Given the description of an element on the screen output the (x, y) to click on. 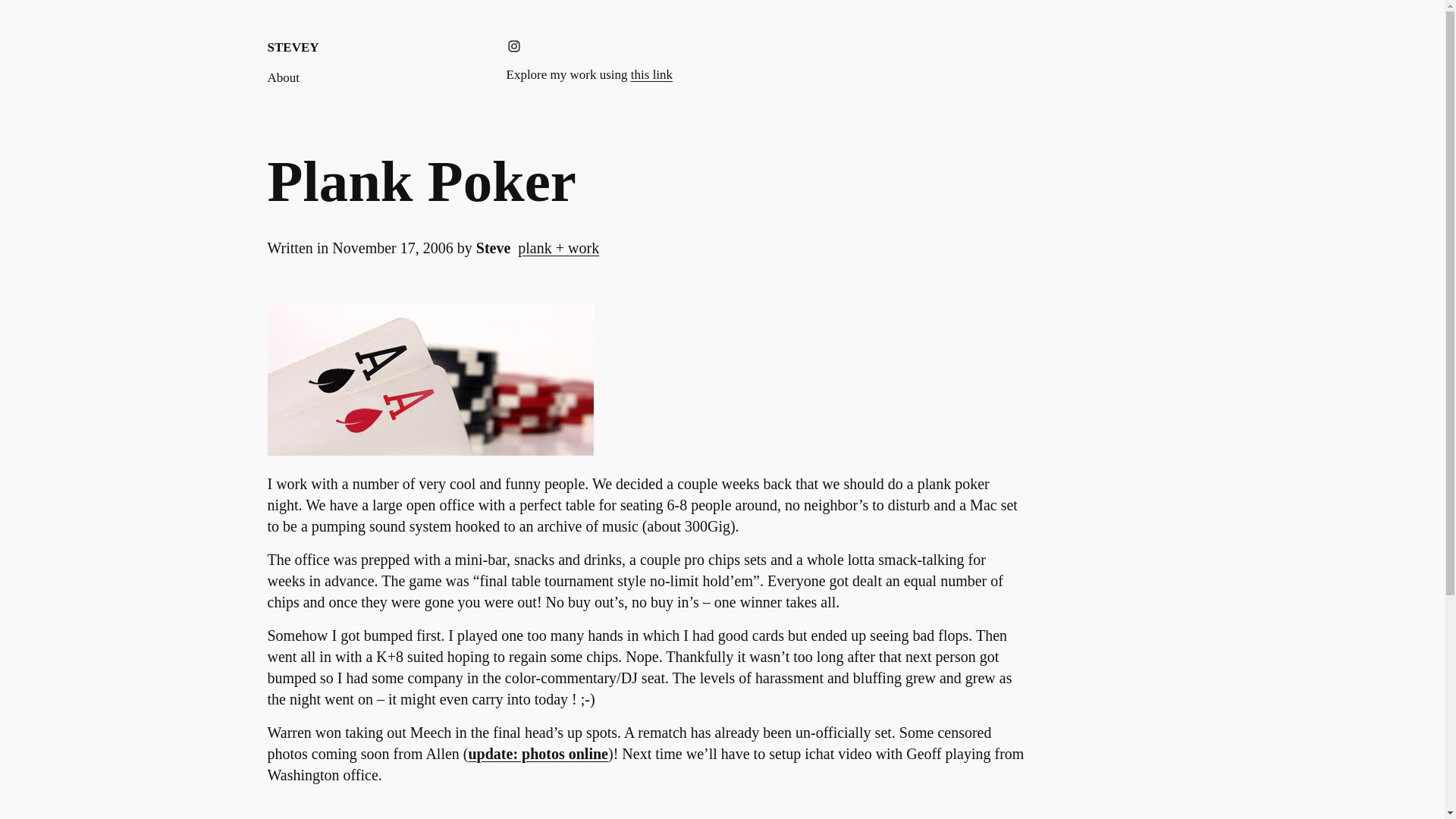
STEVEY (292, 47)
Instagram (513, 46)
update: photos online (537, 753)
Plank Poker (420, 181)
this link (651, 74)
About (282, 77)
